Given the description of an element on the screen output the (x, y) to click on. 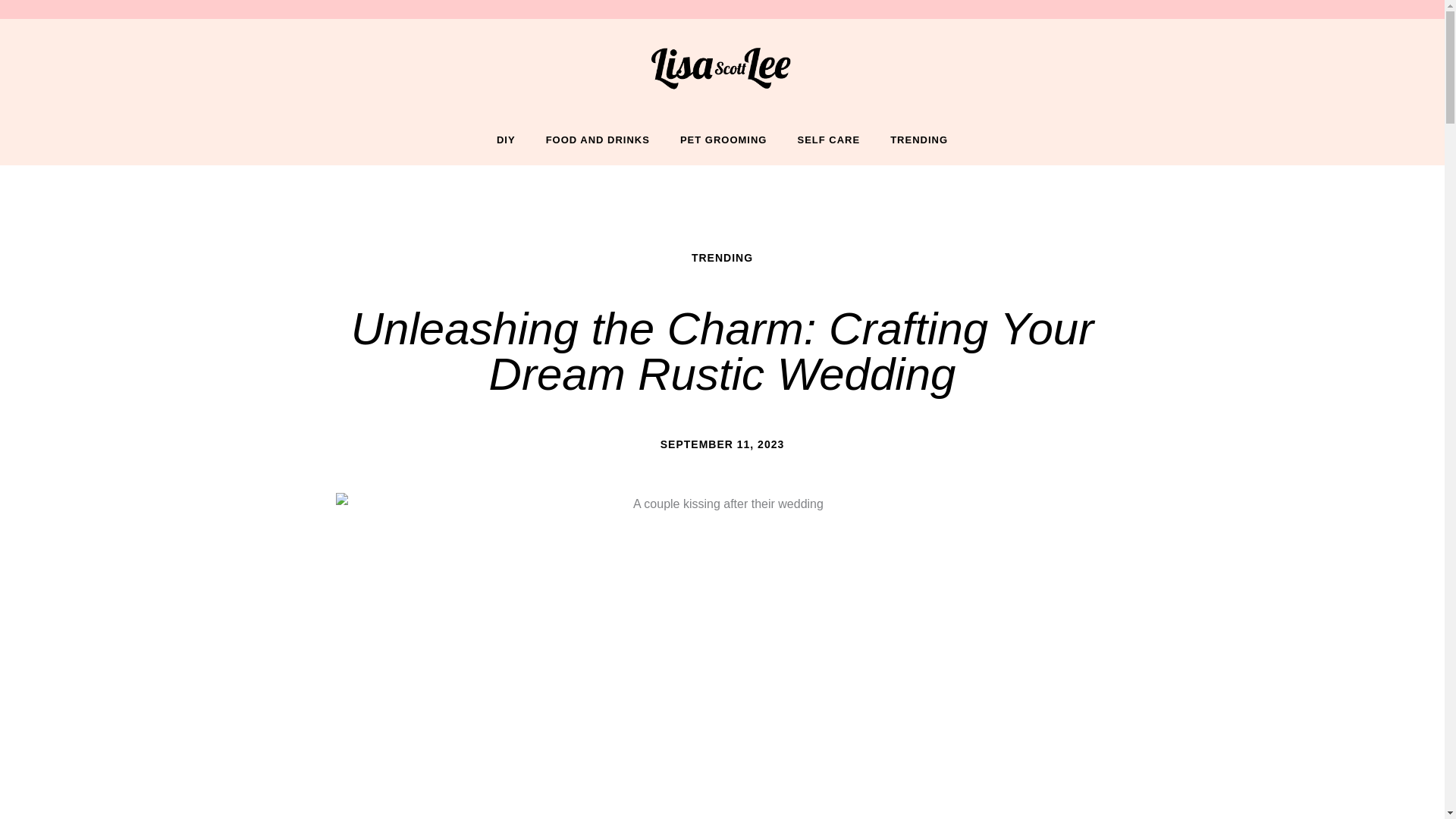
TRENDING (918, 140)
FOOD AND DRINKS (598, 140)
PET GROOMING (724, 140)
SEPTEMBER 11, 2023 (722, 444)
SELF CARE (828, 140)
TRENDING (721, 257)
DIY (506, 140)
